Given the description of an element on the screen output the (x, y) to click on. 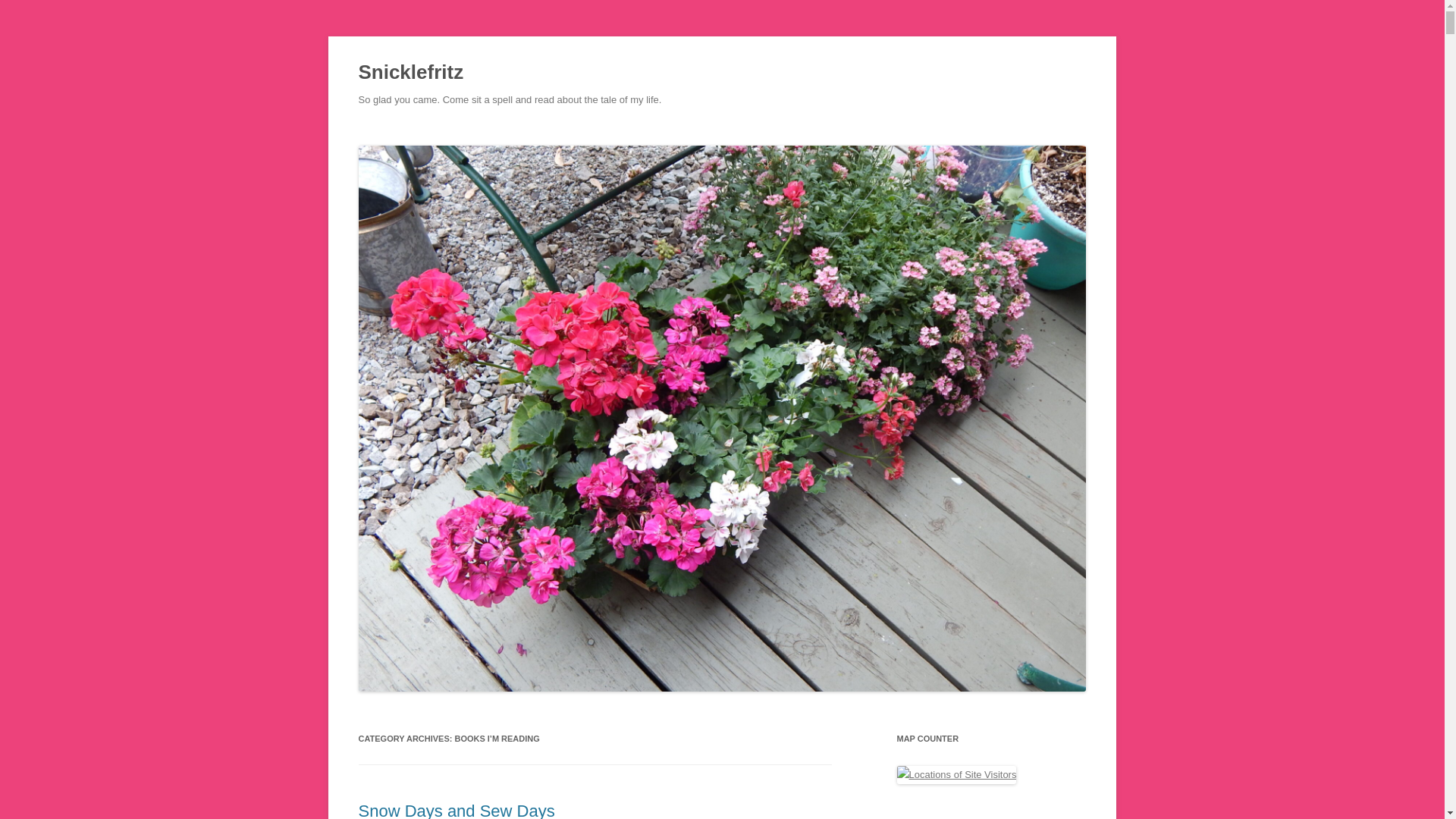
Skip to content (757, 132)
Snow Days and Sew Days (456, 810)
Skip to content (757, 132)
Snicklefritz (410, 72)
Snicklefritz (410, 72)
